Given the description of an element on the screen output the (x, y) to click on. 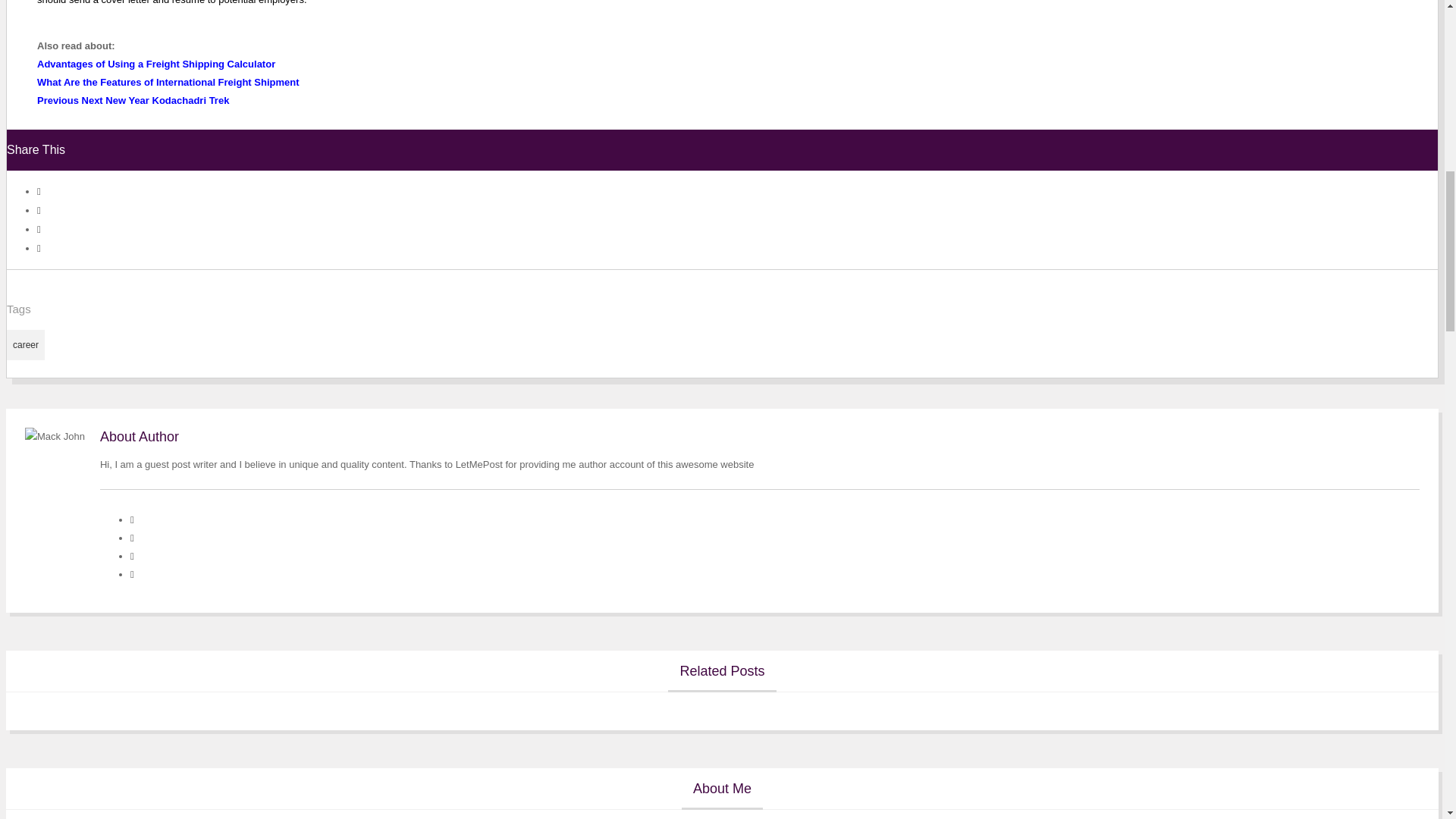
Advantages of Using a Freight Shipping Calculator (156, 63)
What Are the Features of International Freight Shipment (168, 81)
Advantages of Using a Freight Shipping Calculator (156, 63)
Previous Next New Year Kodachadri Trek (132, 100)
What Are the Features of International Freight Shipment (168, 81)
Previous Next New Year Kodachadri Trek (132, 100)
Mack John (54, 436)
